Given the description of an element on the screen output the (x, y) to click on. 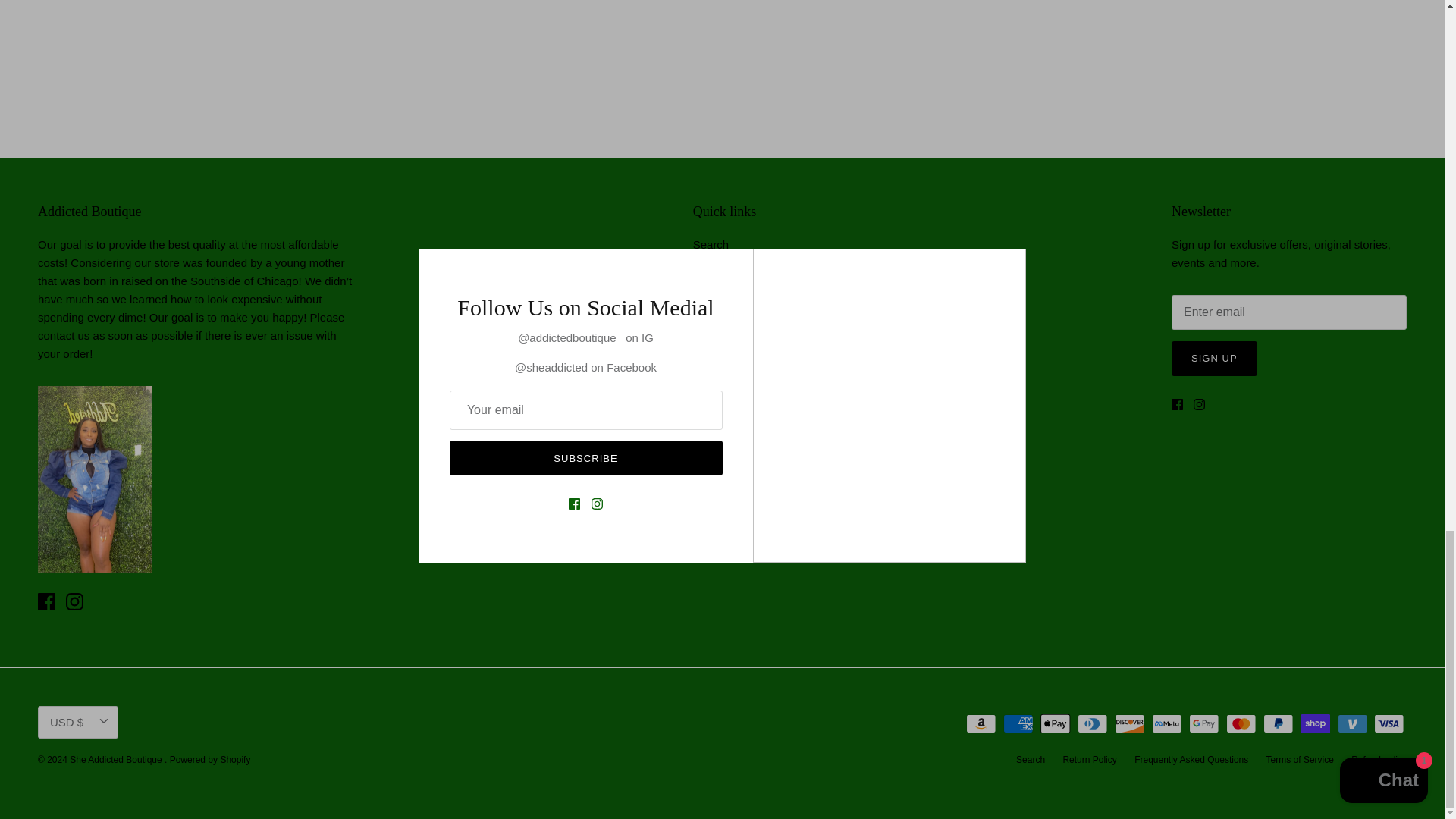
Discover (1129, 723)
Meta Pay (1166, 723)
Instagram (73, 601)
Diners Club (1092, 723)
Amazon (980, 723)
Apple Pay (1055, 723)
Facebook (46, 601)
Instagram (1199, 404)
Facebook (1177, 404)
American Express (1018, 723)
